Given the description of an element on the screen output the (x, y) to click on. 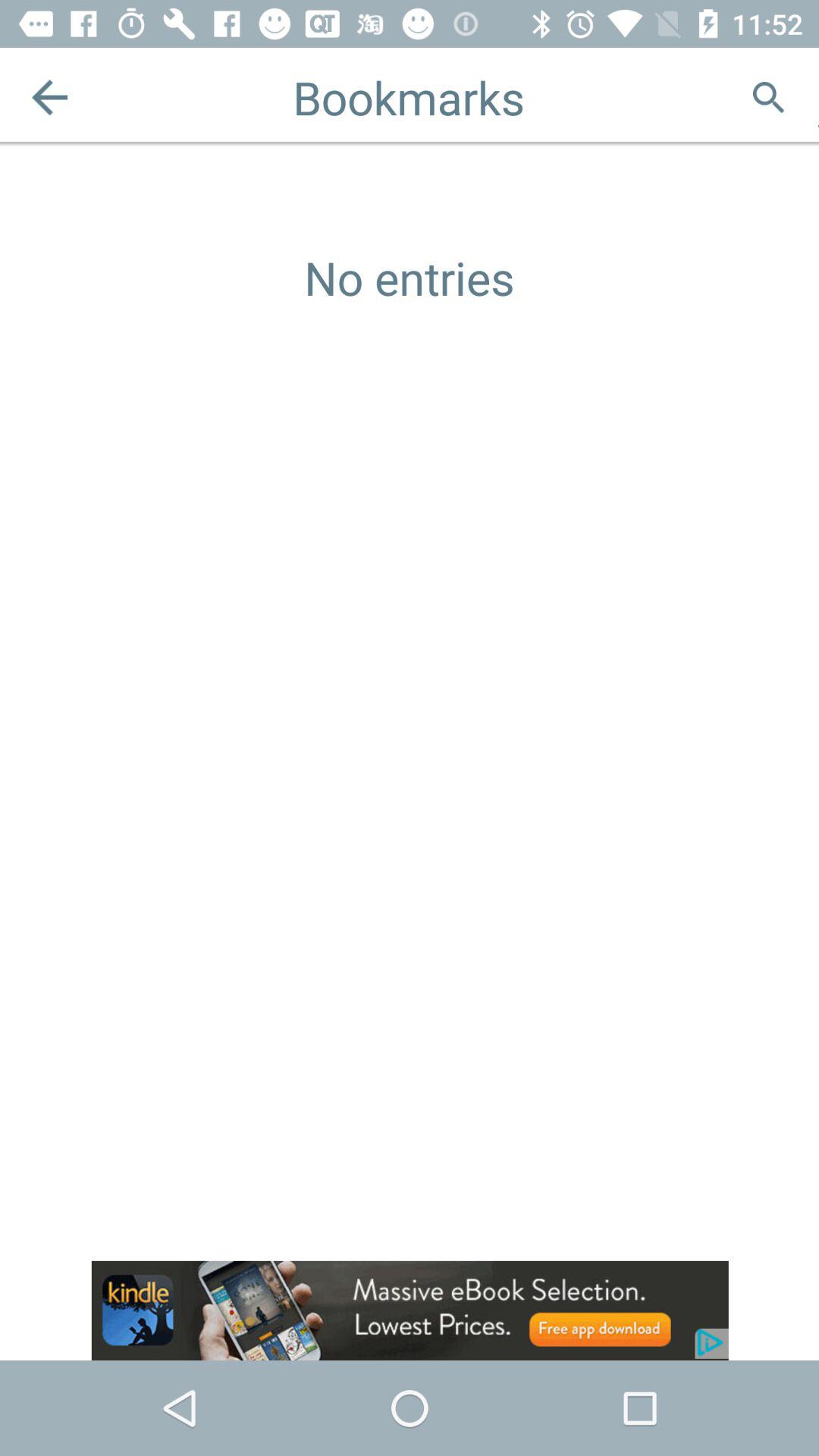
go to search (768, 97)
